Given the description of an element on the screen output the (x, y) to click on. 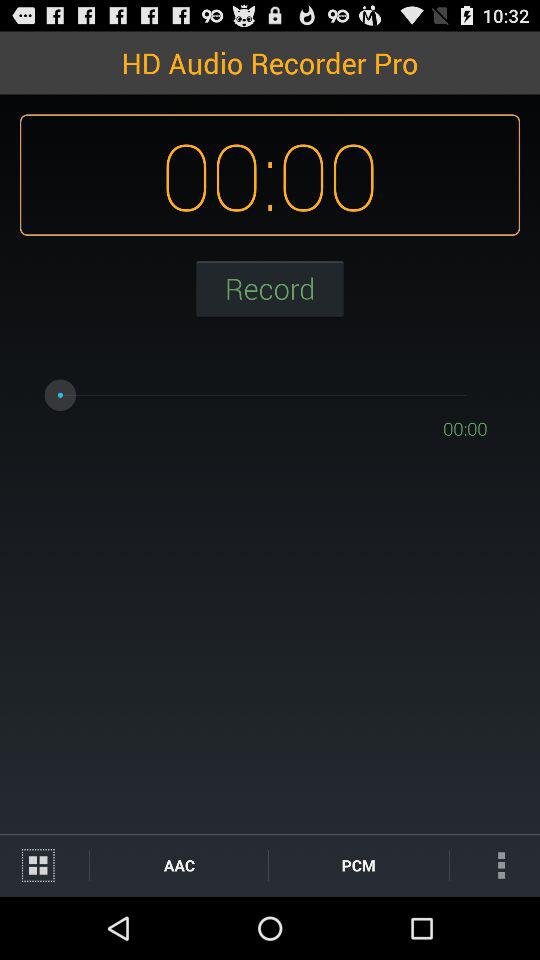
tap the icon at the bottom (358, 864)
